Given the description of an element on the screen output the (x, y) to click on. 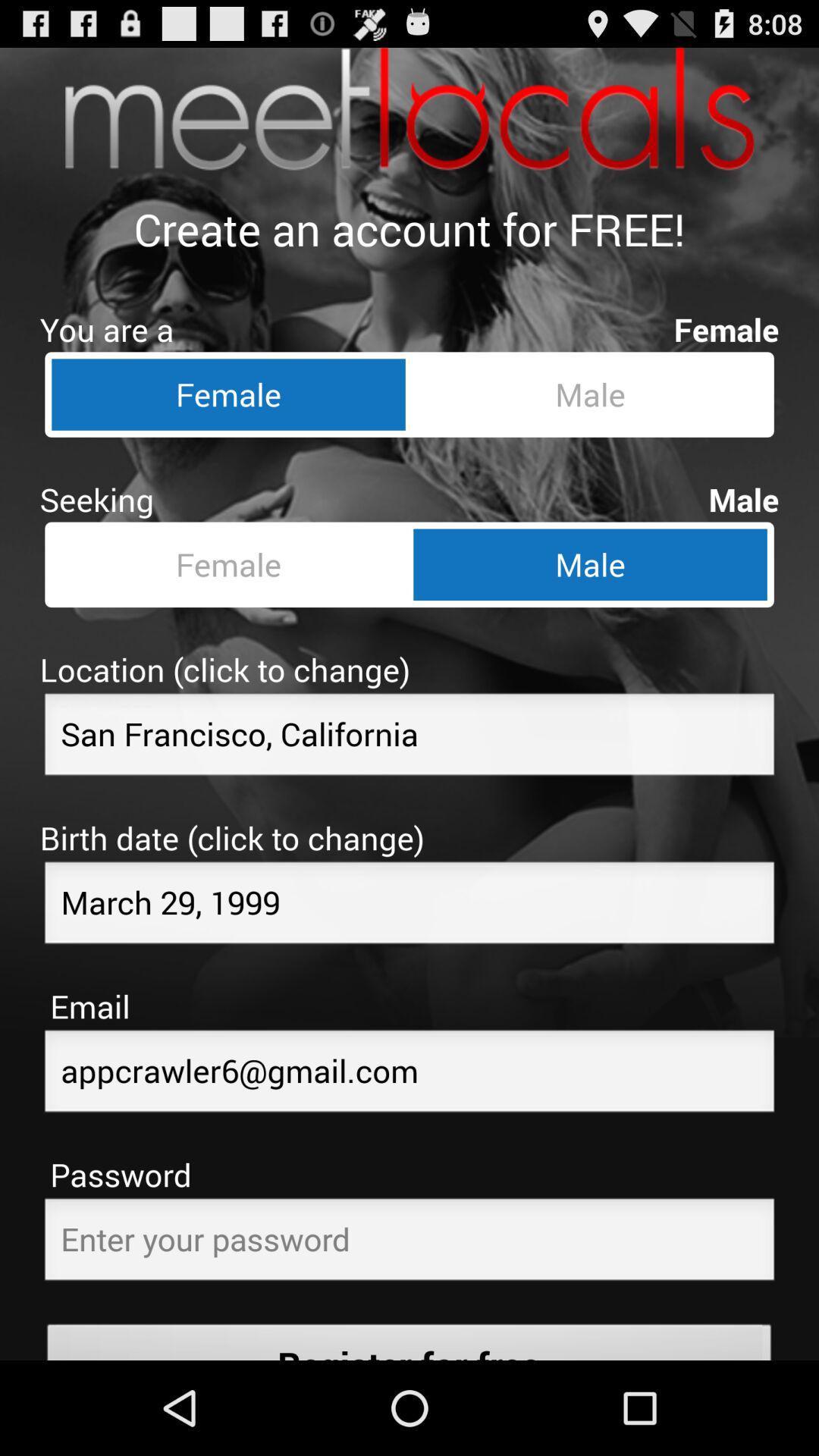
create a password (409, 1243)
